Given the description of an element on the screen output the (x, y) to click on. 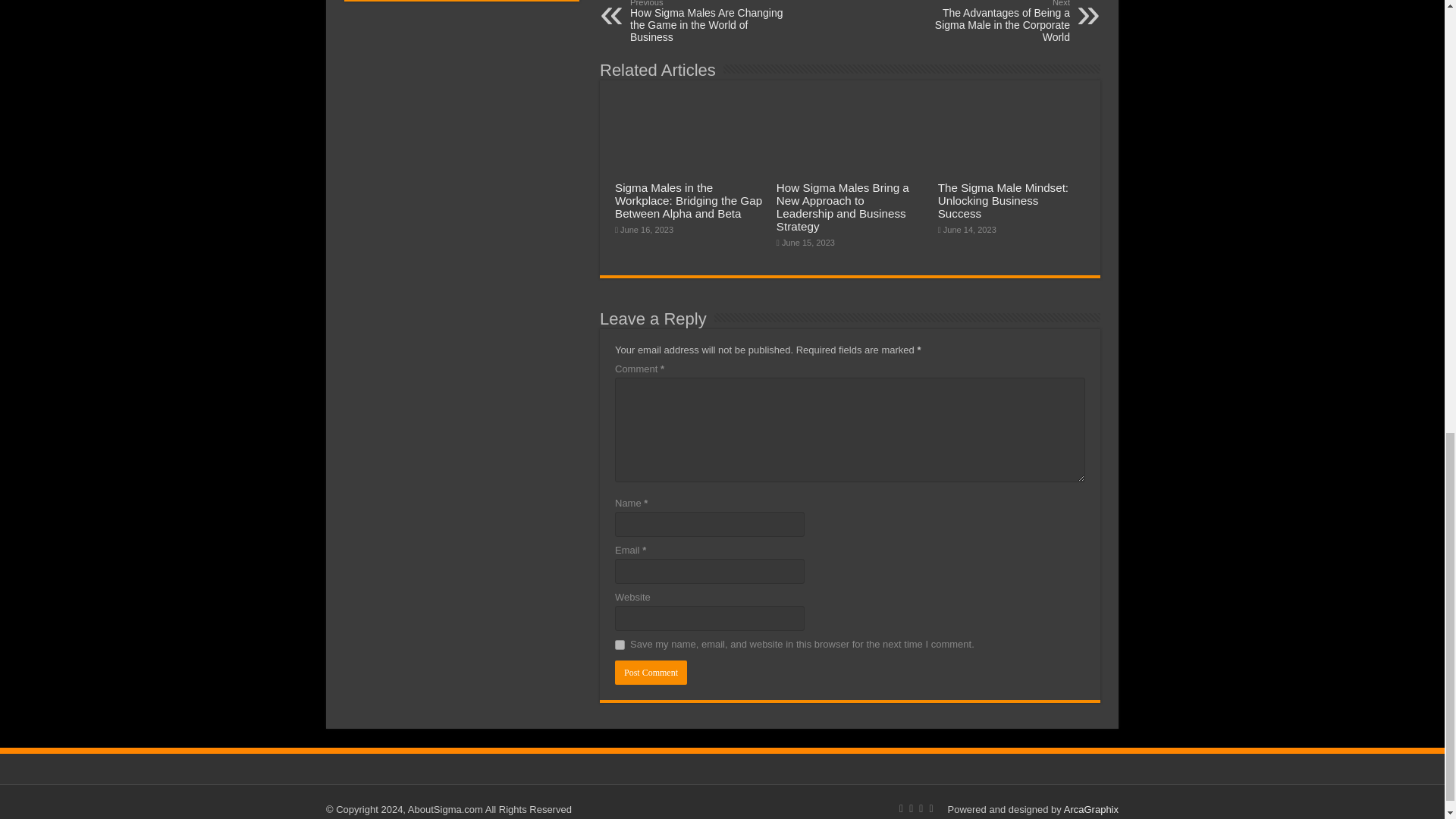
Post Comment (650, 672)
Post Comment (650, 672)
The Sigma Male Mindset: Unlocking Business Success (1002, 200)
yes (619, 644)
